Given the description of an element on the screen output the (x, y) to click on. 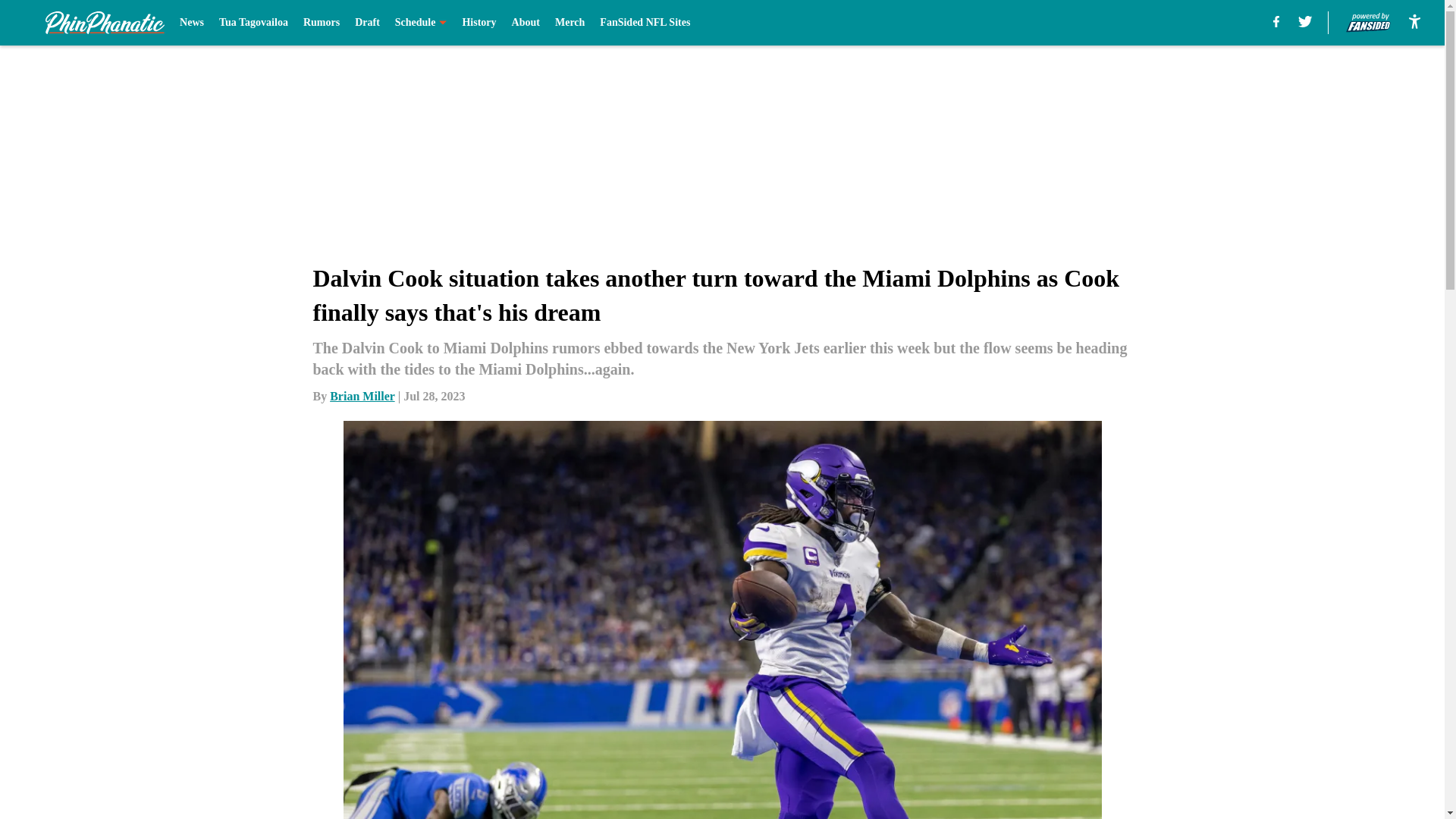
History (478, 22)
News (191, 22)
Brian Miller (362, 395)
Merch (569, 22)
FanSided NFL Sites (644, 22)
Rumors (320, 22)
Draft (367, 22)
Tua Tagovailoa (253, 22)
About (526, 22)
